Given the description of an element on the screen output the (x, y) to click on. 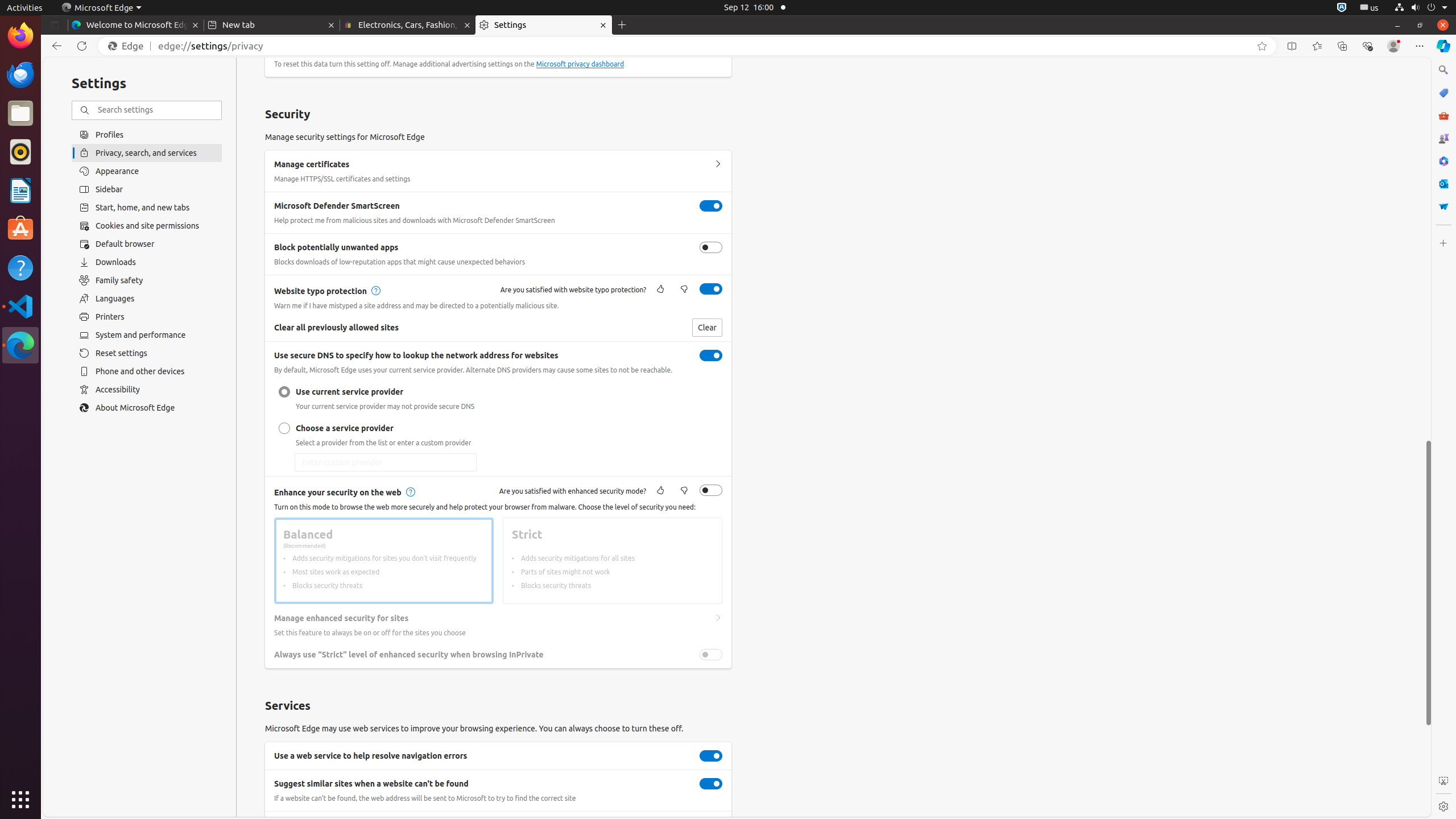
Reset settings Element type: tree-item (146, 353)
Edge Element type: push-button (128, 46)
Visual Studio Code Element type: push-button (20, 306)
Favorites Element type: push-button (1316, 45)
Files Element type: push-button (20, 113)
